Given the description of an element on the screen output the (x, y) to click on. 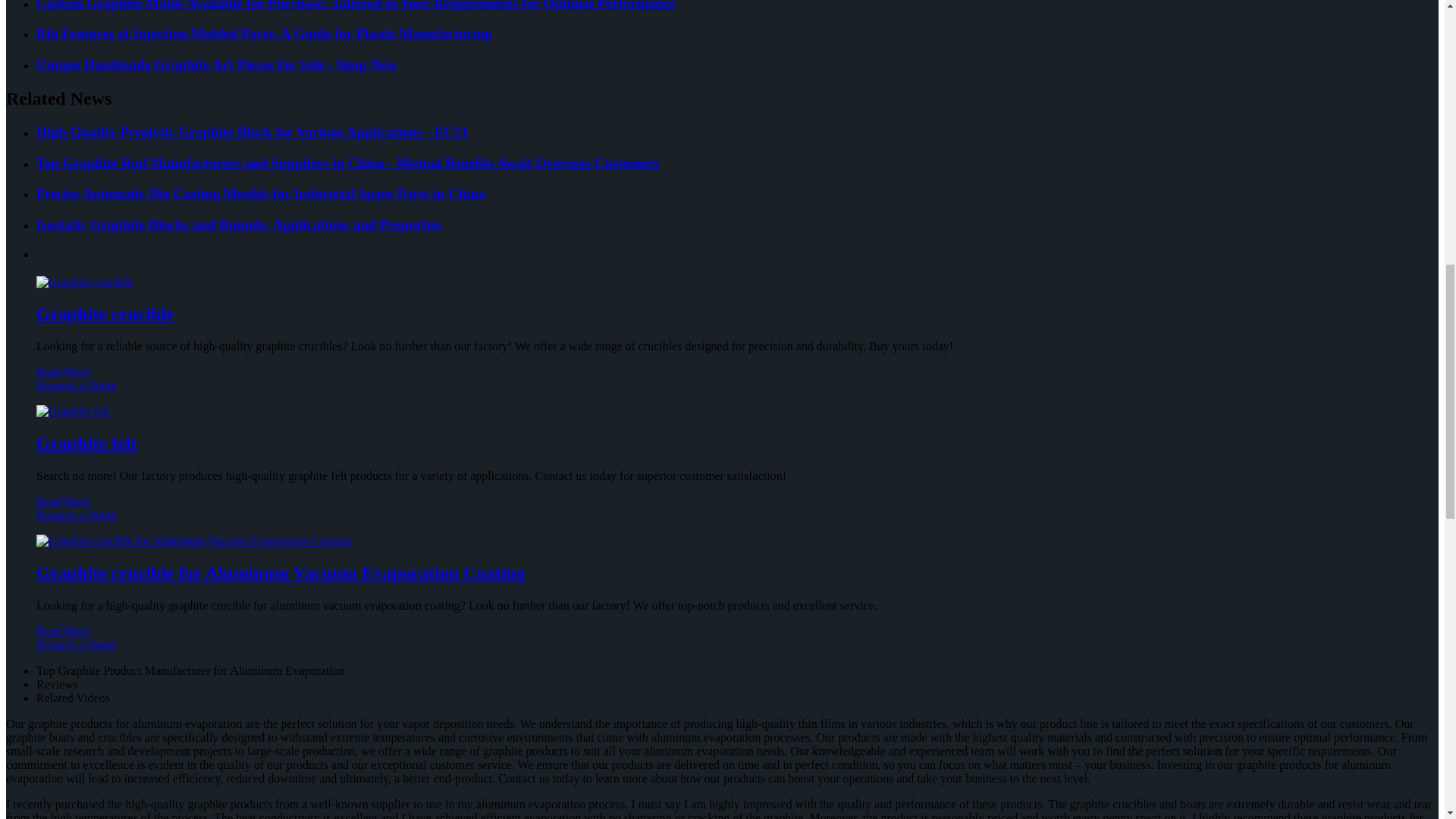
Request a Quote (721, 392)
Read More (63, 371)
Graphite crucible (105, 313)
